Given the description of an element on the screen output the (x, y) to click on. 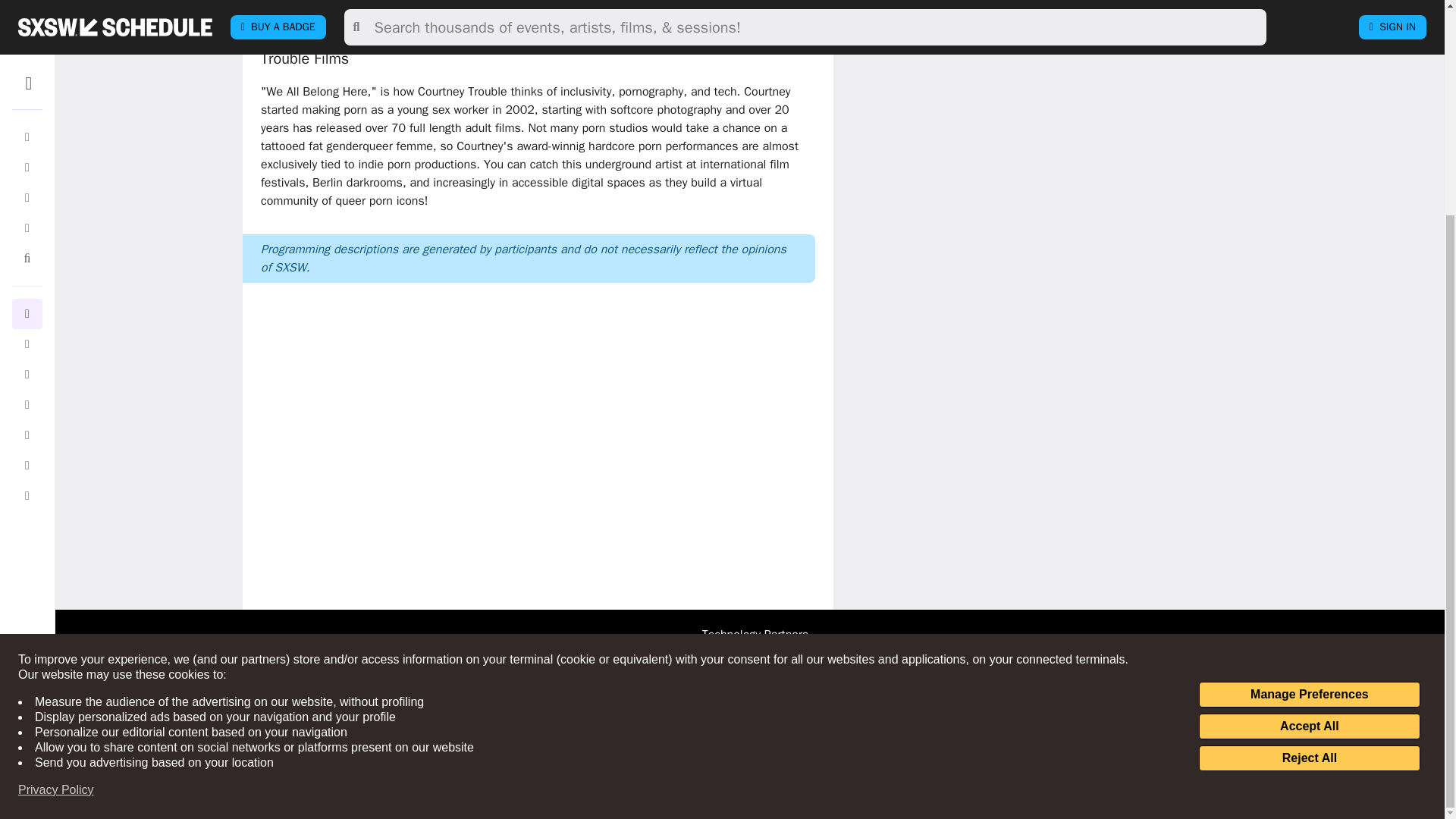
Privacy Policy (55, 507)
Manage Preferences (1309, 412)
Accept All (1309, 444)
Reject All (1309, 475)
